Given the description of an element on the screen output the (x, y) to click on. 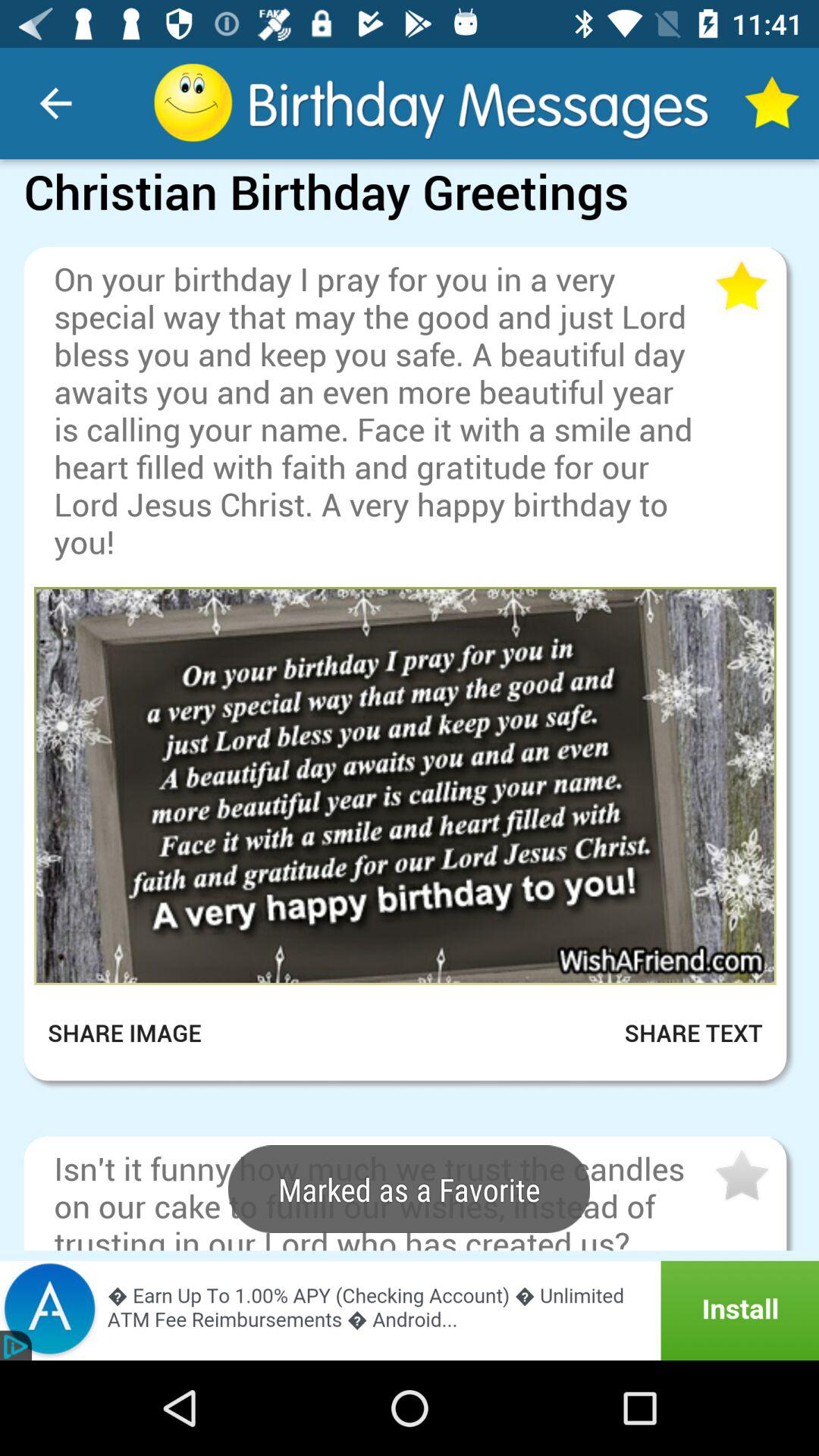
open this image (405, 785)
